Given the description of an element on the screen output the (x, y) to click on. 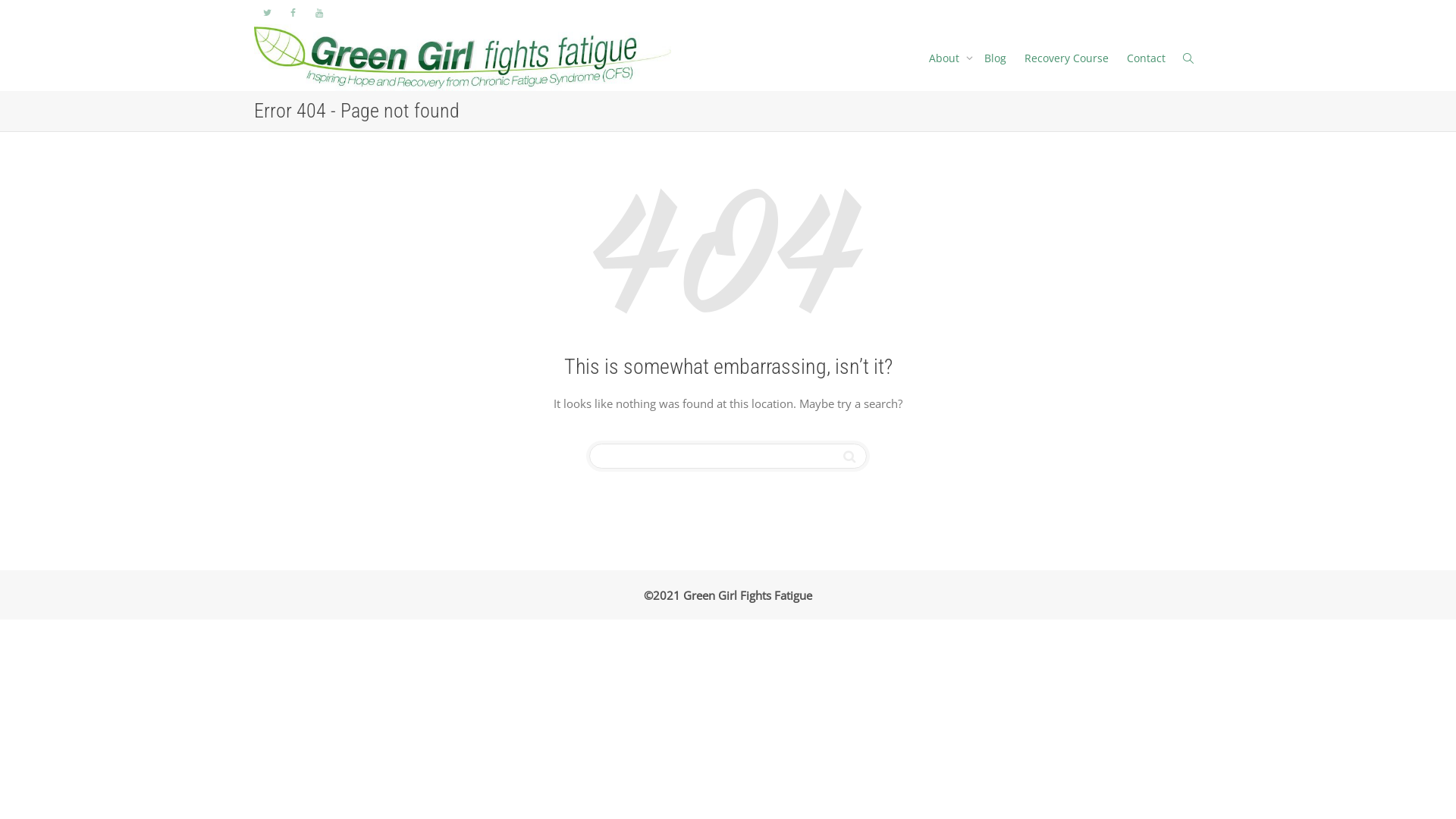
Recovery Course Element type: text (1066, 57)
Blog Element type: text (995, 57)
About Element type: text (947, 57)
Contact Element type: text (1145, 57)
Search Element type: text (849, 456)
Green Girl Fights Fatigue Element type: hover (462, 57)
